Given the description of an element on the screen output the (x, y) to click on. 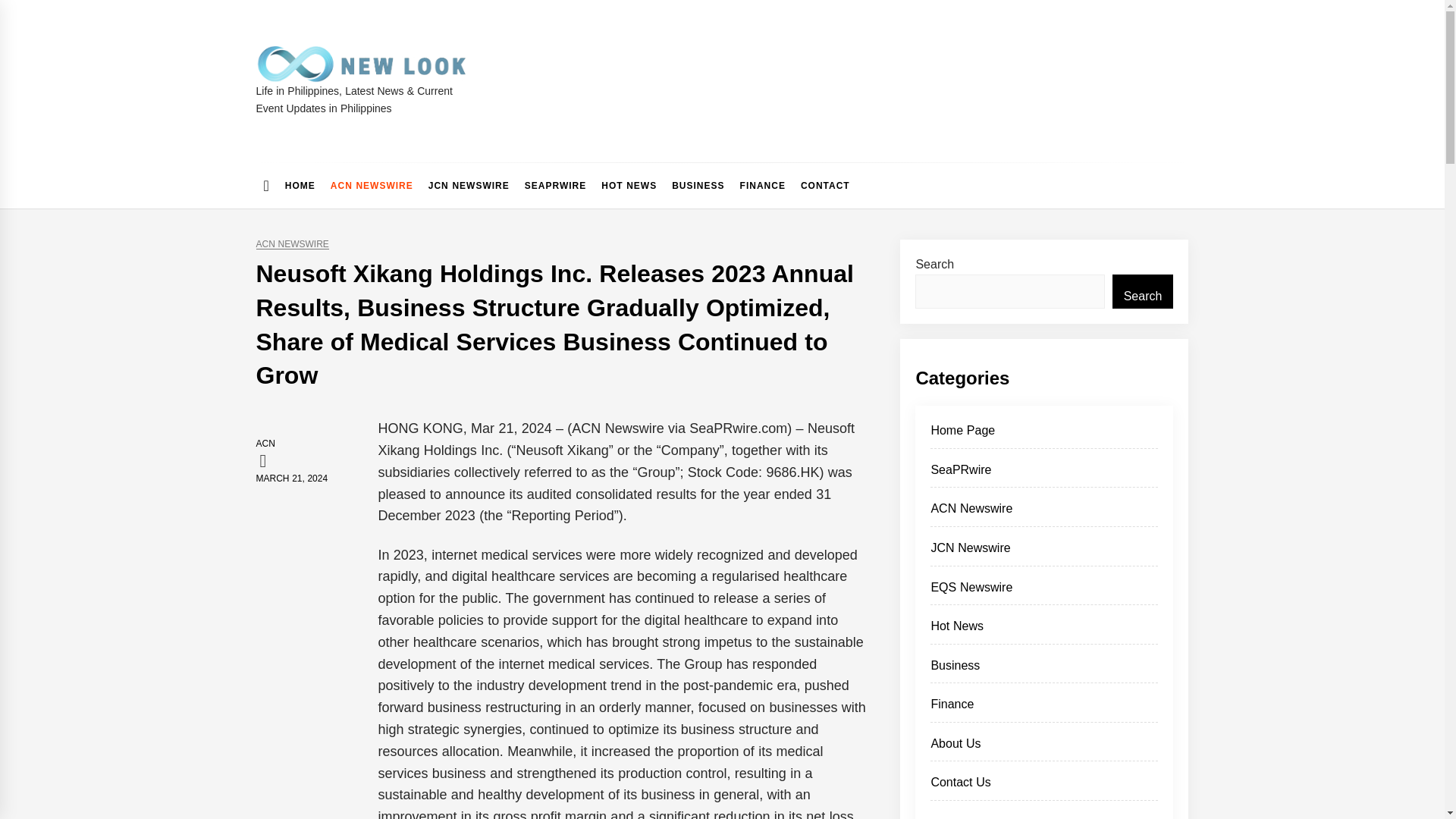
Contact Us (1043, 786)
SEAPRWIRE (555, 185)
Search (1142, 291)
About Us (1043, 747)
FINANCE (762, 185)
BUSINESS (697, 185)
Finance (1043, 708)
Hot News (1043, 630)
EQS Newswire (1043, 592)
Business (1043, 669)
ACN NEWSWIRE (292, 244)
CONTACT (825, 185)
MARCH 21, 2024 (292, 478)
Philippines New Look (389, 97)
ACN NEWSWIRE (371, 185)
